Given the description of an element on the screen output the (x, y) to click on. 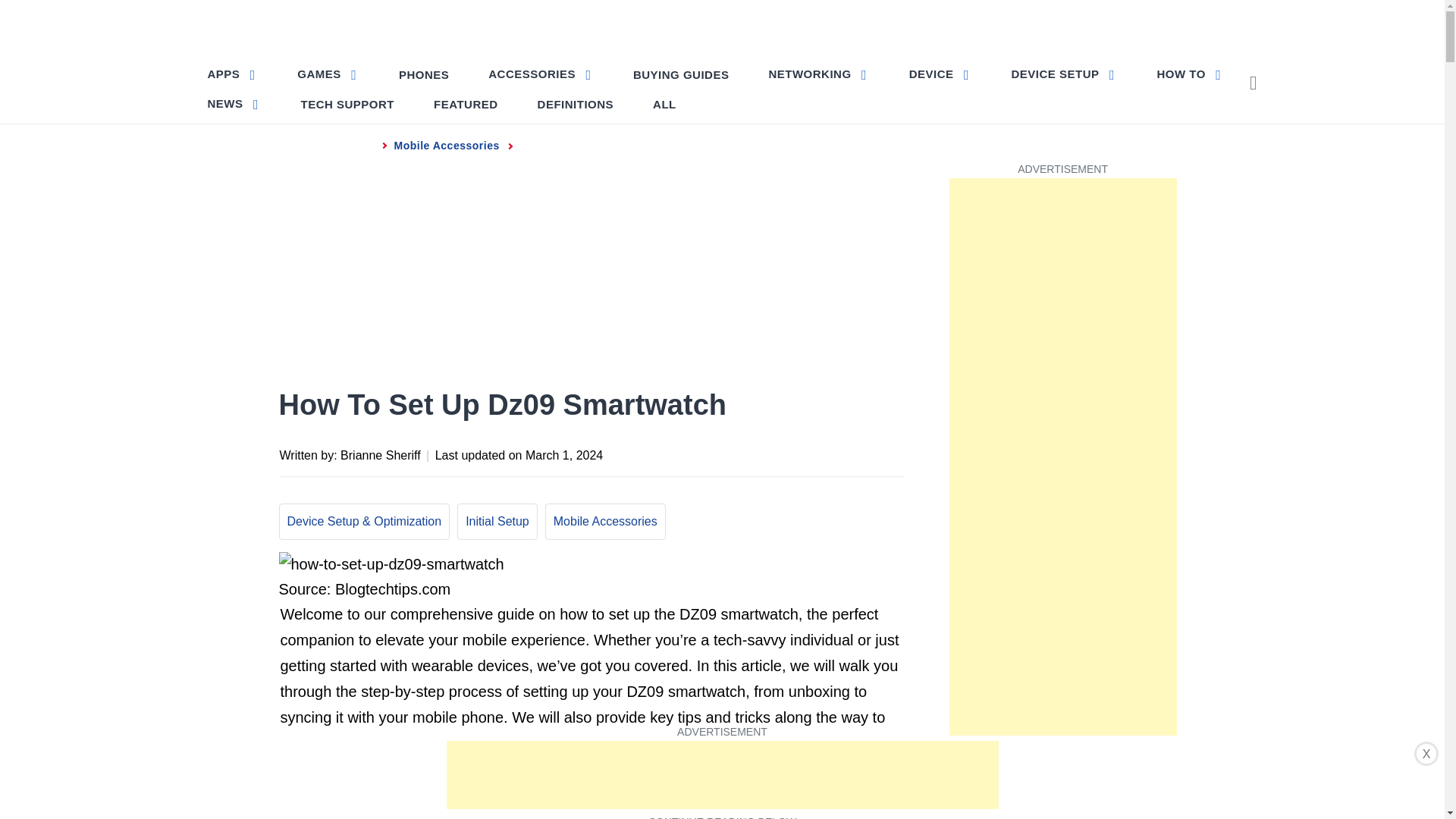
APPS (233, 73)
Copy to Clipboard (860, 453)
GAMES (327, 73)
DEVICE (940, 73)
Share on twitter (769, 453)
Share on Whatsapp (829, 453)
PHONES (424, 74)
Share on Pinterest (800, 453)
BUYING GUIDES (681, 74)
Share on facebook (740, 453)
